Given the description of an element on the screen output the (x, y) to click on. 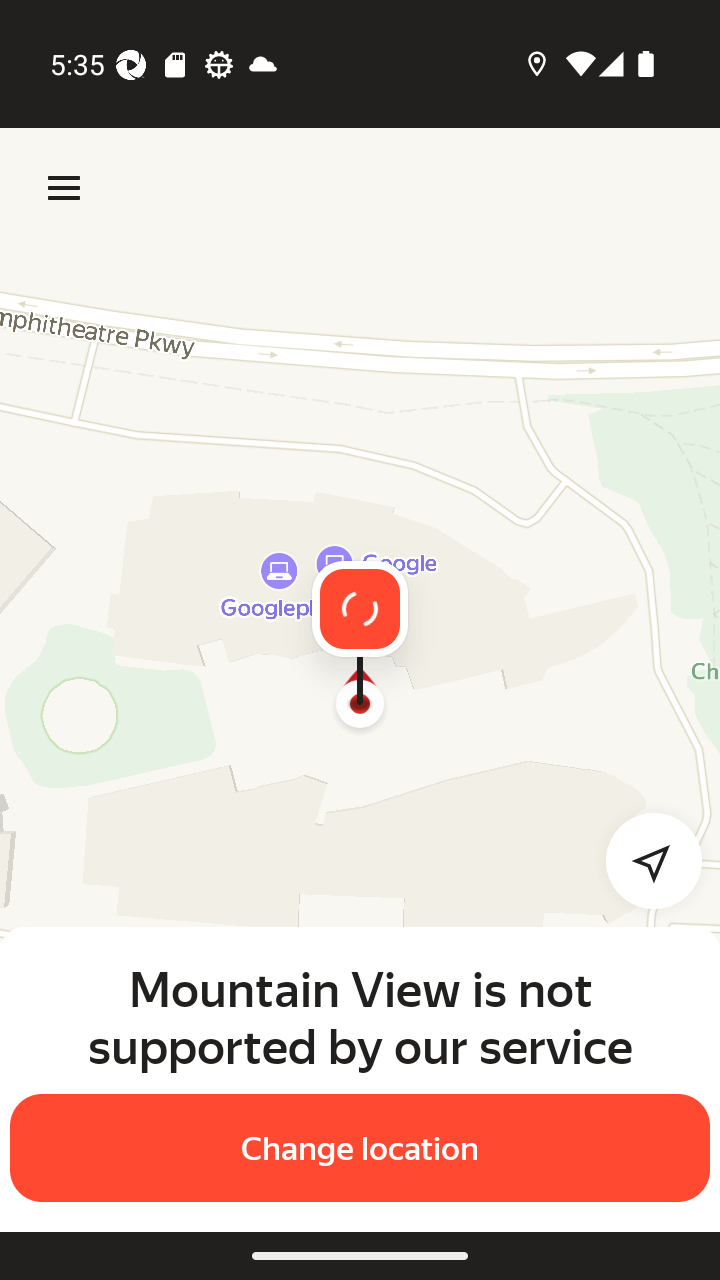
Menu Menu Menu (64, 188)
Detect my location (641, 860)
Change location (359, 1147)
